Given the description of an element on the screen output the (x, y) to click on. 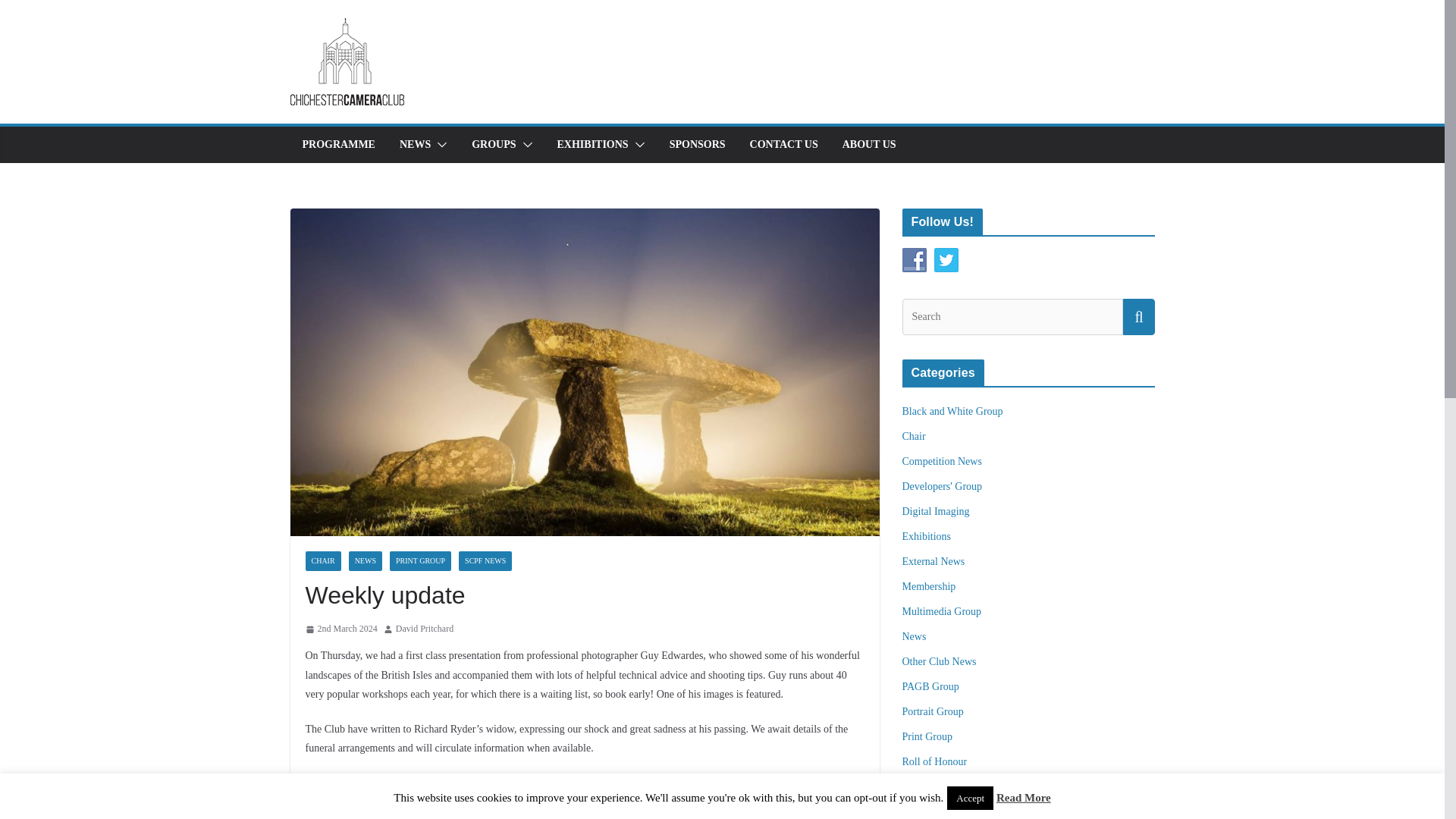
PROGRAMME (337, 144)
CHAIR (322, 560)
NEWS (414, 144)
David Pritchard (424, 629)
PRINT GROUP (420, 560)
David Pritchard (424, 629)
2nd March 2024 (340, 629)
GROUPS (493, 144)
3:43 pm (340, 629)
ABOUT US (869, 144)
CONTACT US (783, 144)
NEWS (365, 560)
Follow Us on Twitter (946, 259)
Follow Us on Facebook (914, 259)
EXHIBITIONS (592, 144)
